Given the description of an element on the screen output the (x, y) to click on. 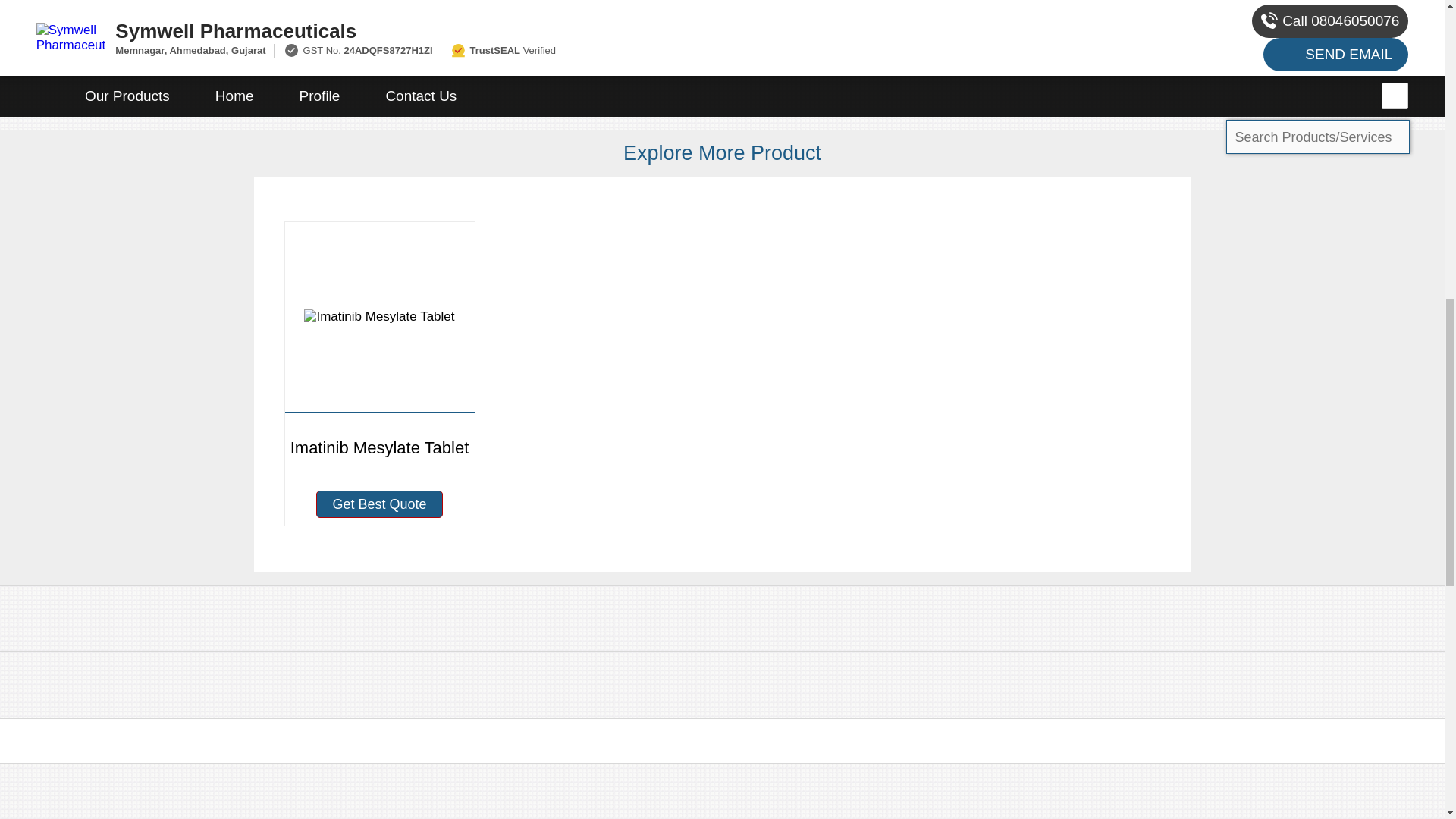
Imatinib Mesylate Tablet (379, 349)
